Given the description of an element on the screen output the (x, y) to click on. 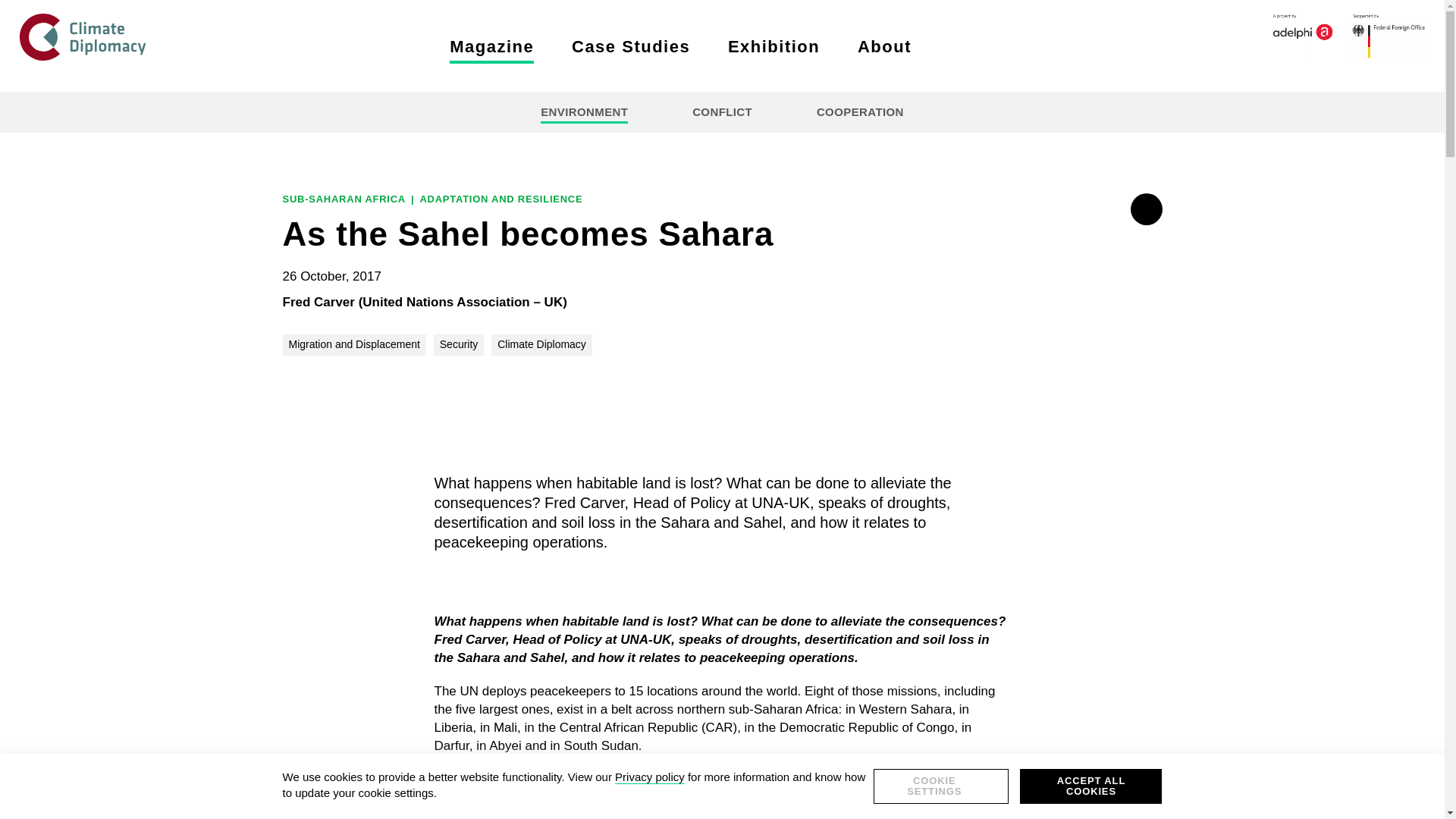
Read more about the privacy policy (649, 776)
ACCEPT ALL COOKIES (1090, 786)
Climate Diplomacy (542, 344)
SUB-SAHARAN AFRICA (344, 198)
About (884, 47)
Magazine (491, 47)
Type in keywords or use the filter options (959, 46)
Exhibition (773, 47)
Case Studies (631, 47)
ADAPTATION AND RESILIENCE (500, 198)
